Given the description of an element on the screen output the (x, y) to click on. 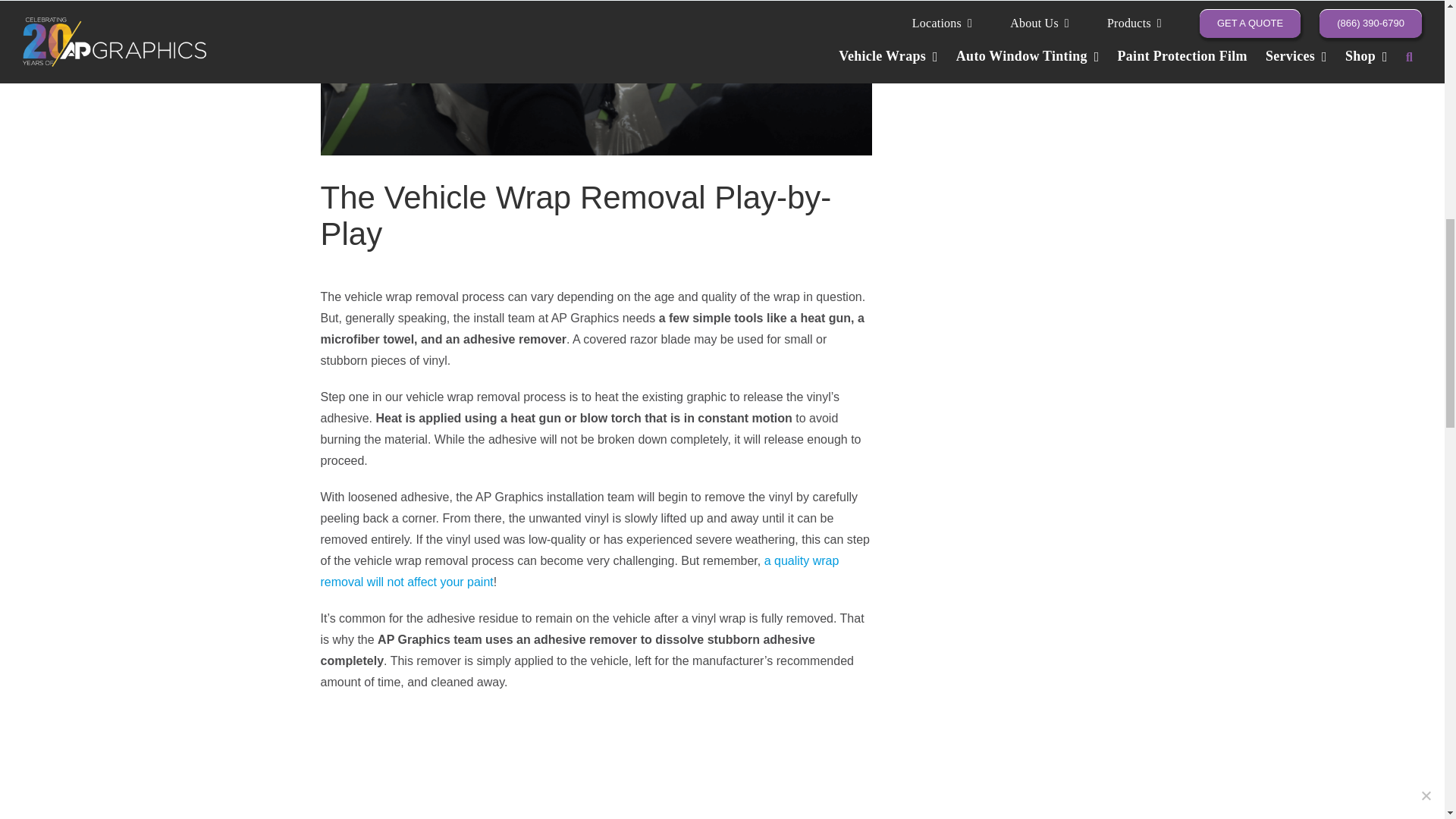
vehicle-wrap-removal-how-it-works (595, 77)
vehicle-wrap-removal-how-it-works-ap-corp-ap-graphics (595, 763)
